Given the description of an element on the screen output the (x, y) to click on. 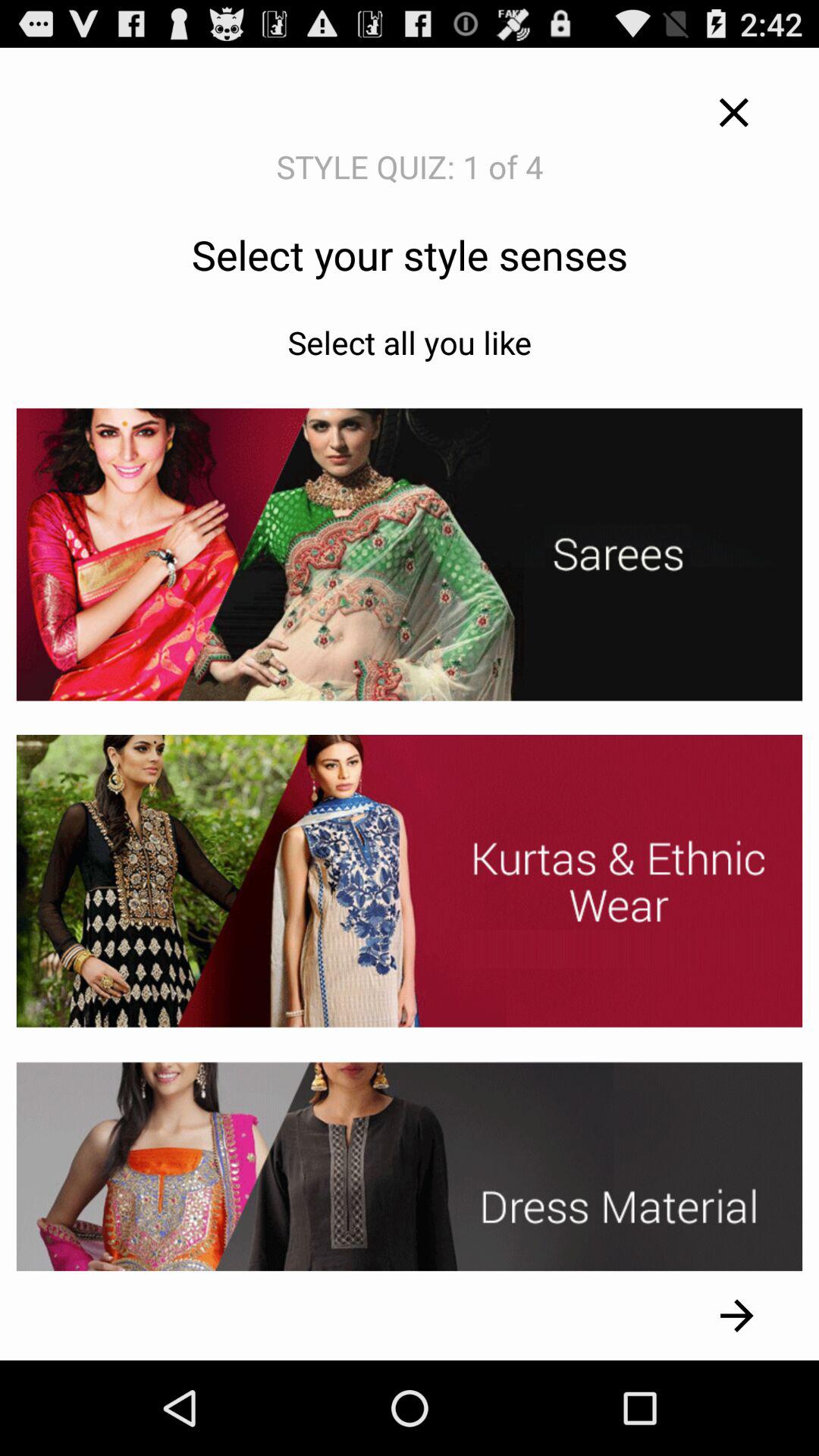
launch icon at the bottom right corner (737, 1315)
